Given the description of an element on the screen output the (x, y) to click on. 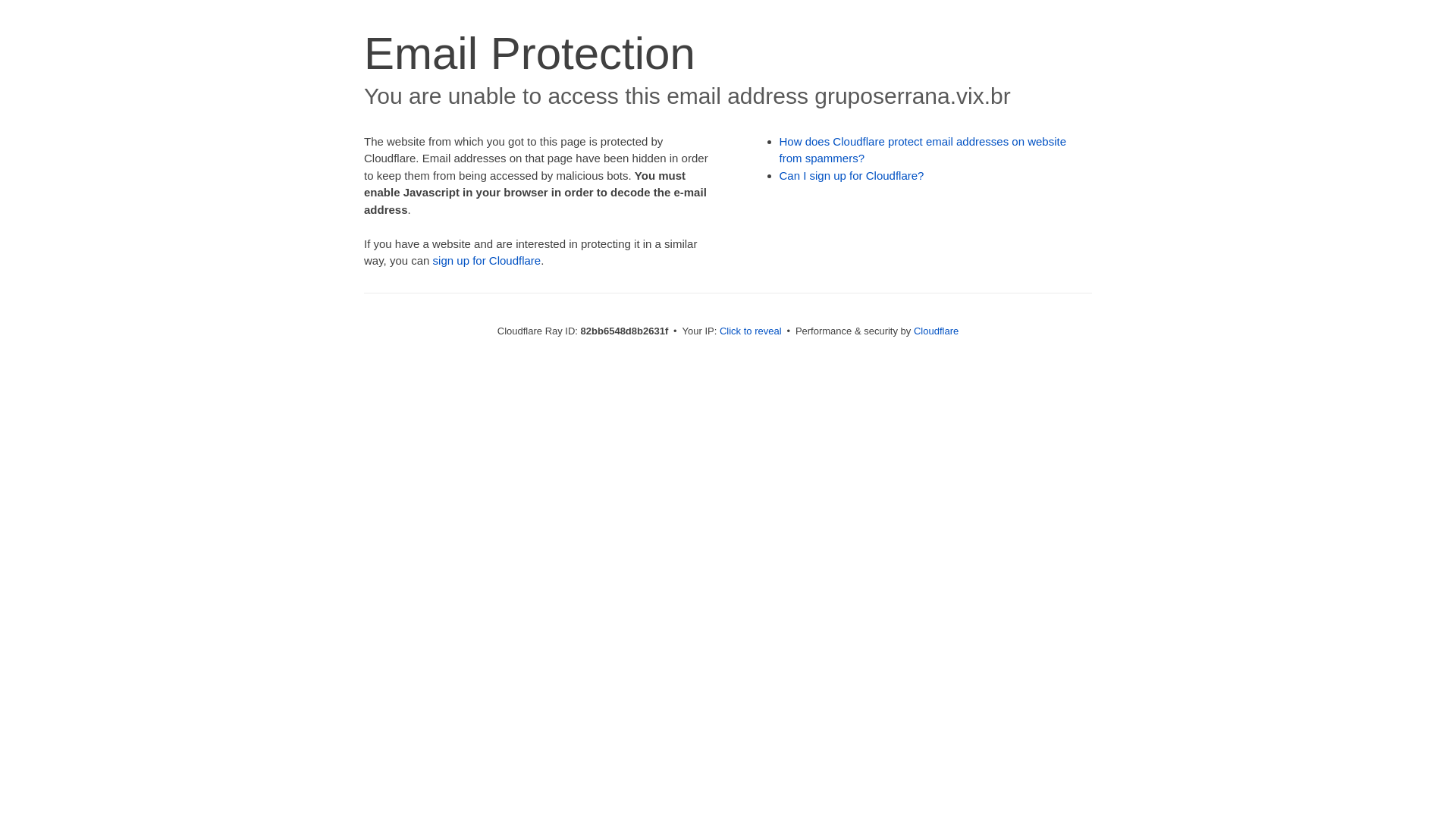
Cloudflare Element type: text (935, 330)
Can I sign up for Cloudflare? Element type: text (851, 175)
sign up for Cloudflare Element type: text (487, 260)
Click to reveal Element type: text (750, 330)
